Given the description of an element on the screen output the (x, y) to click on. 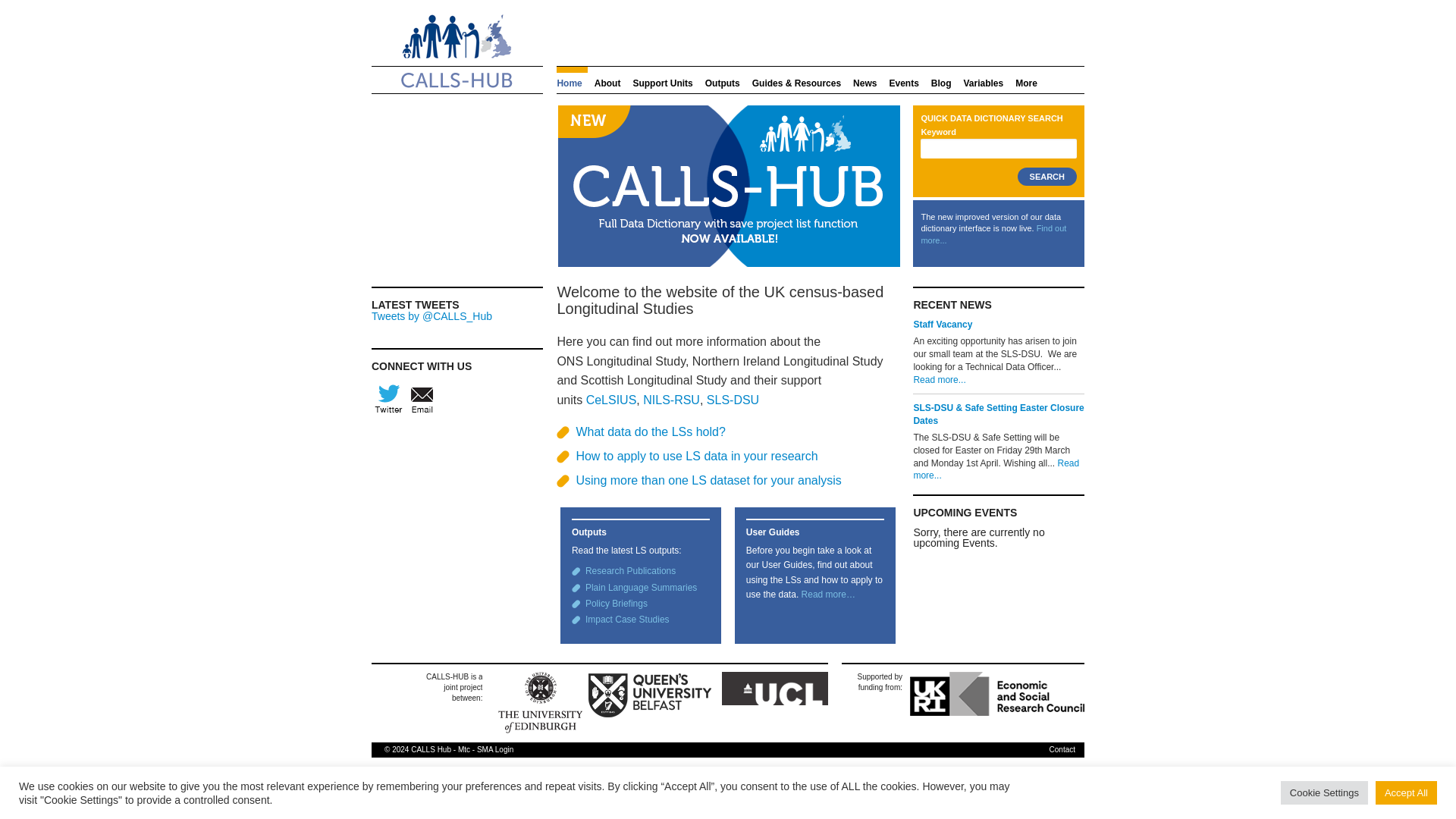
Using more than one LS dataset for your analysis (708, 480)
Link to: Research and policy briefs page. (616, 603)
Plain Language Summaries (641, 587)
Link to: Outputs section. (630, 570)
Staff Vacancy (942, 324)
Find out more... (992, 233)
About (607, 78)
Read more... (995, 469)
Outputs (722, 78)
What data do the LSs hold? (650, 431)
Home (571, 78)
Contact (1062, 749)
CeLCIUS (611, 399)
Events (903, 78)
How to apply to use LS data in your research (695, 455)
